Given the description of an element on the screen output the (x, y) to click on. 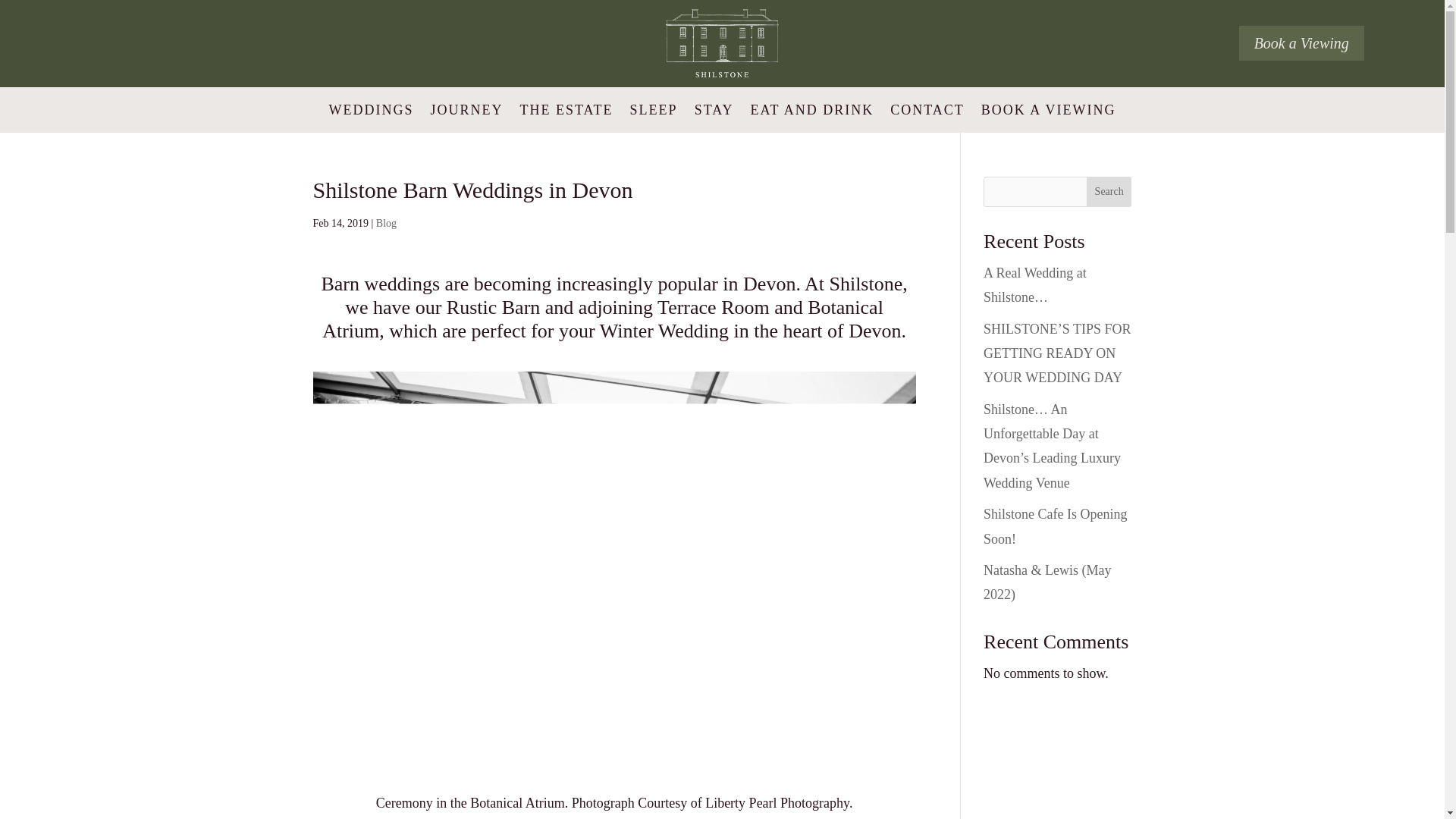
BOOK A VIEWING (1048, 112)
CONTACT (926, 112)
Shilstone Cafe Is Opening Soon! (1055, 526)
Shilstone (721, 43)
THE ESTATE (565, 112)
Blog (385, 223)
Book a Viewing (1301, 42)
WEDDINGS (371, 112)
EAT AND DRINK (813, 112)
SLEEP (654, 112)
